Given the description of an element on the screen output the (x, y) to click on. 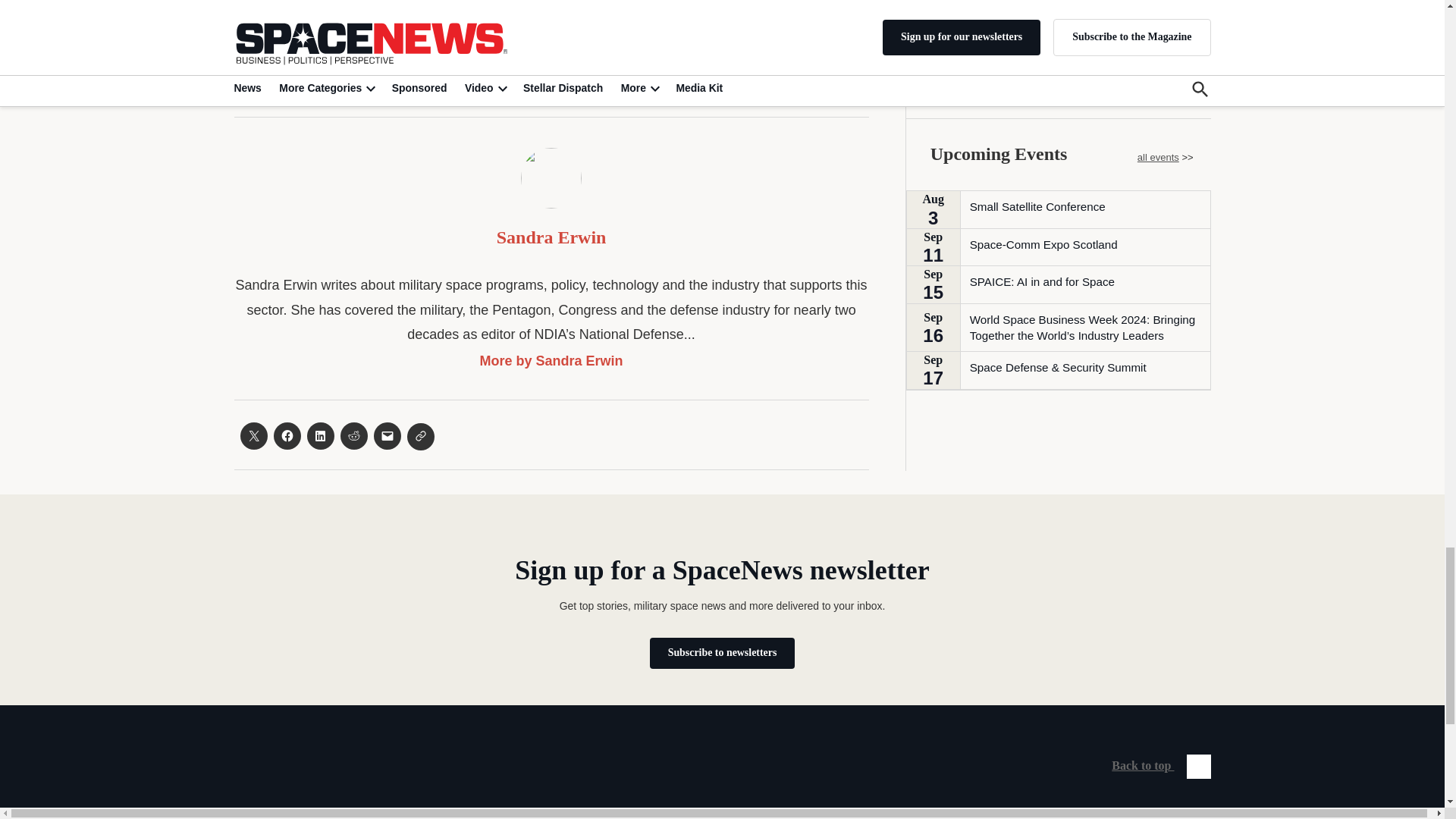
Click to share on X (253, 435)
Click to share on Reddit (352, 435)
Click to share on Facebook (286, 435)
Click to share on LinkedIn (319, 435)
Click to email a link to a friend (386, 435)
